Given the description of an element on the screen output the (x, y) to click on. 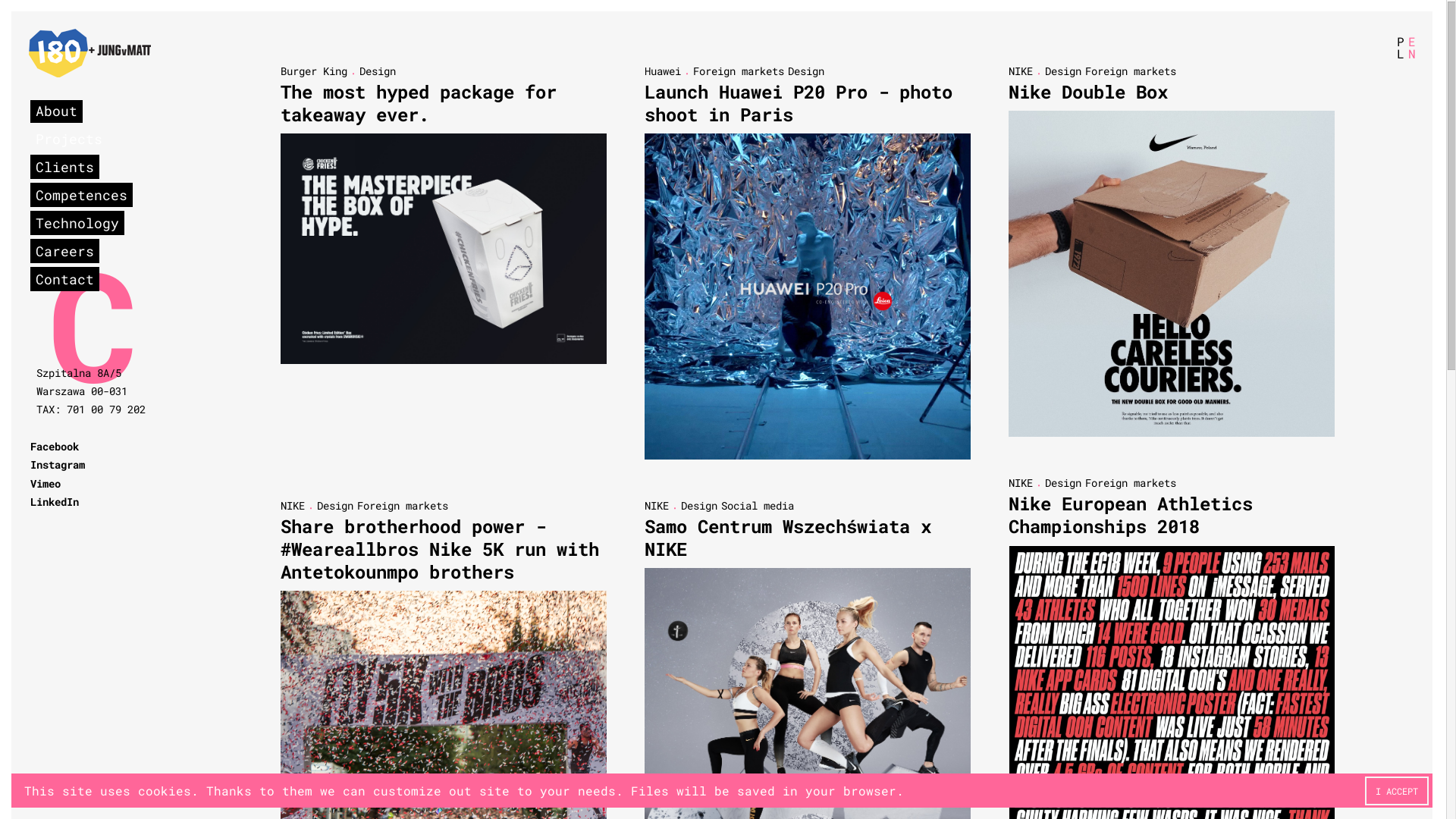
Design Element type: text (377, 72)
E
N Element type: text (1411, 48)
About Element type: text (56, 112)
NIKE Element type: text (1020, 72)
180heartbeats + Jung Von Matt Element type: text (89, 54)
Foreign markets Element type: text (402, 506)
Technology Element type: text (77, 224)
Facebook Element type: text (54, 447)
Projects Element type: text (68, 140)
Launch Huawei P20 Pro - photo shoot in Paris Element type: text (798, 104)
Instagram Element type: text (57, 465)
LinkedIn Element type: text (54, 502)
P
L Element type: text (1399, 48)
Nike Double Box Element type: text (1087, 93)
Design Element type: text (1062, 483)
Design Element type: text (805, 72)
Vimeo Element type: text (45, 484)
Foreign markets Element type: text (738, 72)
NIKE Element type: text (656, 506)
Huawei Element type: text (662, 72)
NIKE Element type: text (1020, 484)
The most hyped package for takeaway ever. Element type: text (418, 104)
Design Element type: text (334, 506)
NIKE Element type: text (292, 506)
Design Element type: text (1062, 72)
Foreign markets Element type: text (1130, 483)
Contact Element type: text (64, 280)
Design Element type: text (698, 506)
Foreign markets Element type: text (1130, 72)
I ACCEPT Element type: text (1396, 792)
Nike European Athletics Championships 2018 Element type: text (1130, 515)
Social media Element type: text (757, 506)
Clients Element type: text (64, 168)
Competences Element type: text (81, 196)
Burger King Element type: text (313, 72)
Careers Element type: text (64, 252)
